Given the description of an element on the screen output the (x, y) to click on. 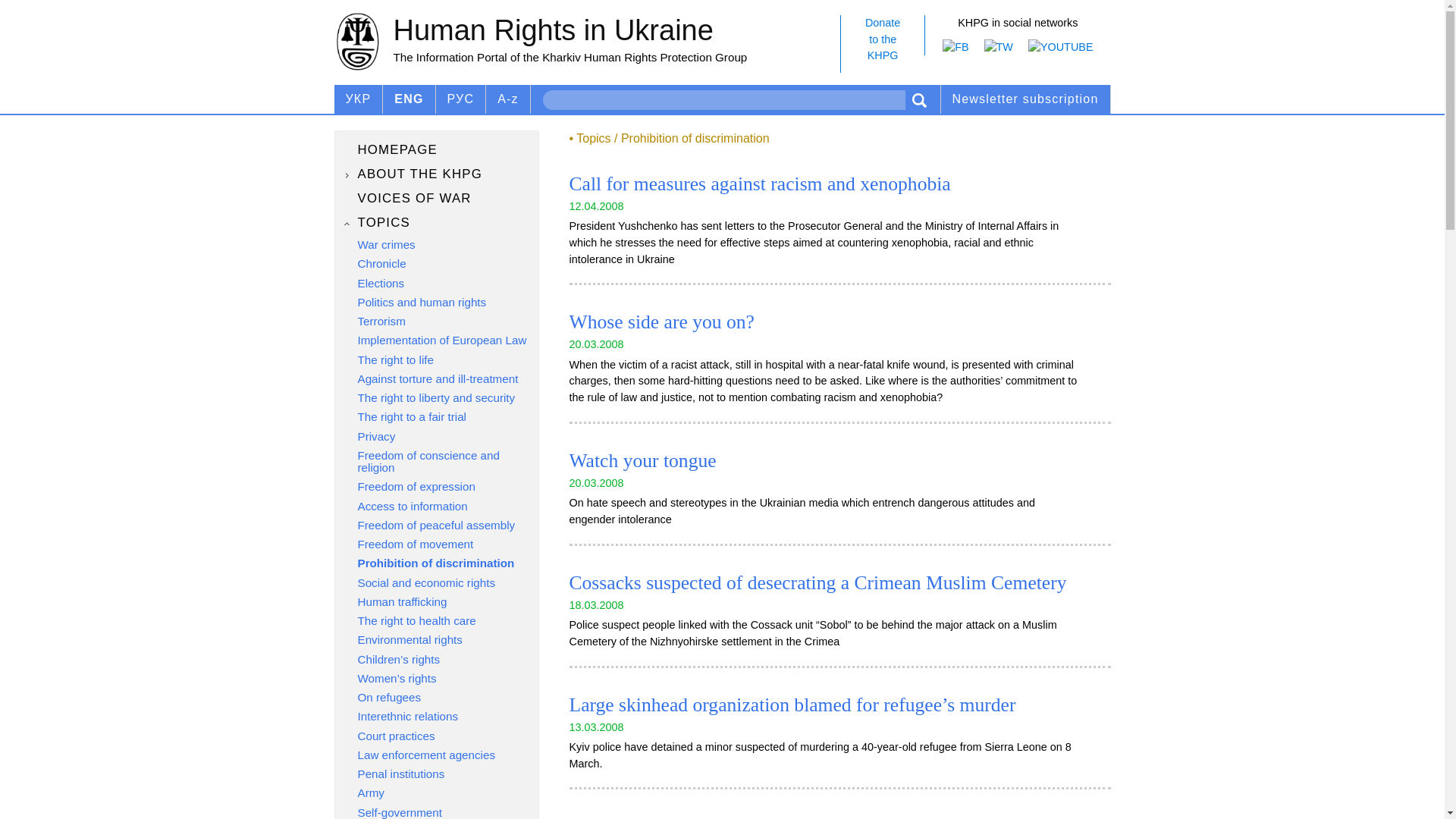
The right to health care (437, 621)
The right to liberty and security (437, 398)
HOMEPAGE (437, 149)
VOICES OF WAR (437, 198)
Chronicle (437, 263)
Politics and human rights (437, 302)
TOPICS (437, 222)
Human trafficking (437, 602)
Implementation of European Law (437, 340)
Against torture and ill-treatment (437, 378)
Elections (437, 283)
Terrorism (437, 321)
Prohibition of discrimination (882, 43)
Newsletter subscription (437, 563)
